Given the description of an element on the screen output the (x, y) to click on. 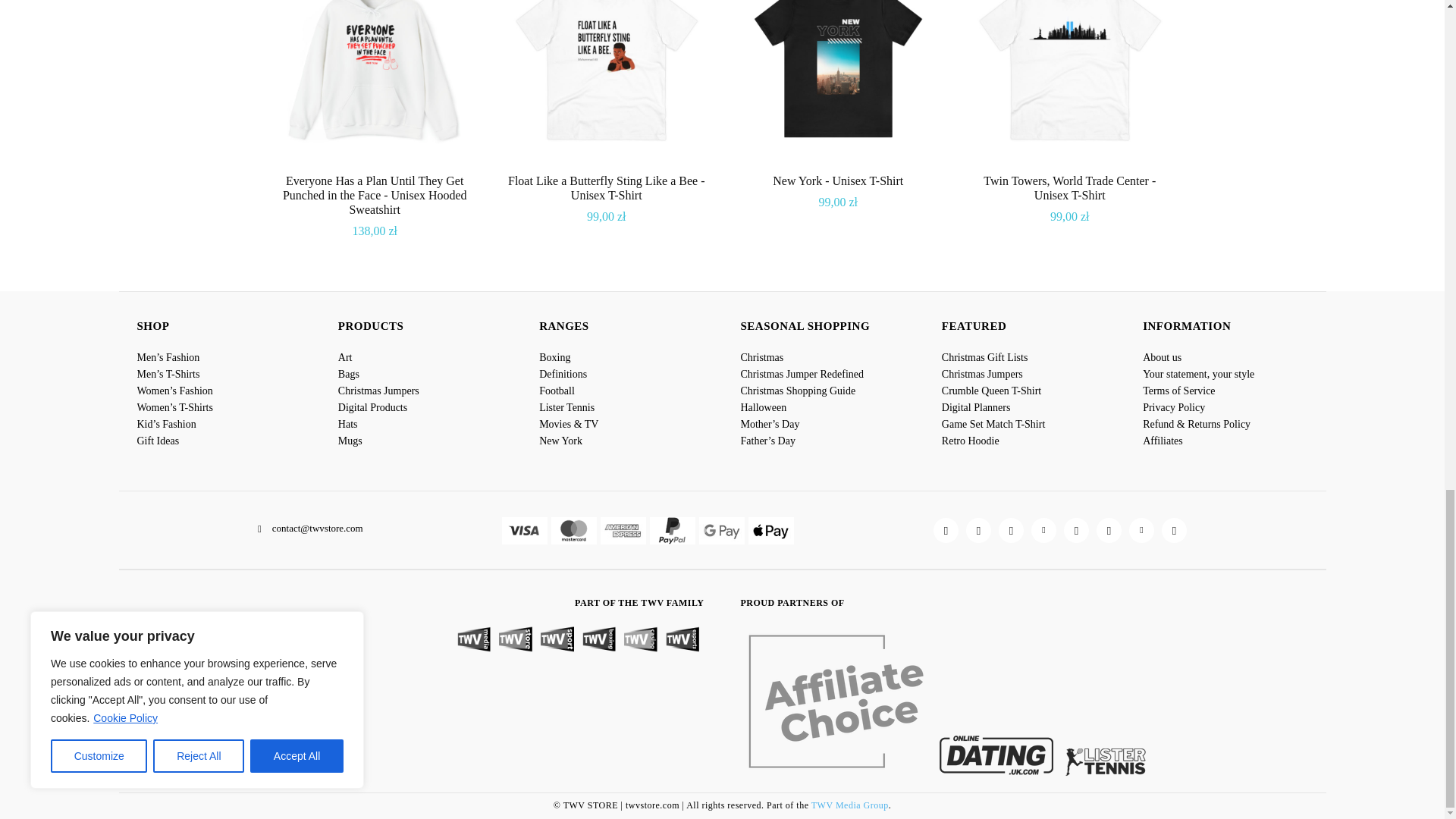
vi (524, 530)
